Given the description of an element on the screen output the (x, y) to click on. 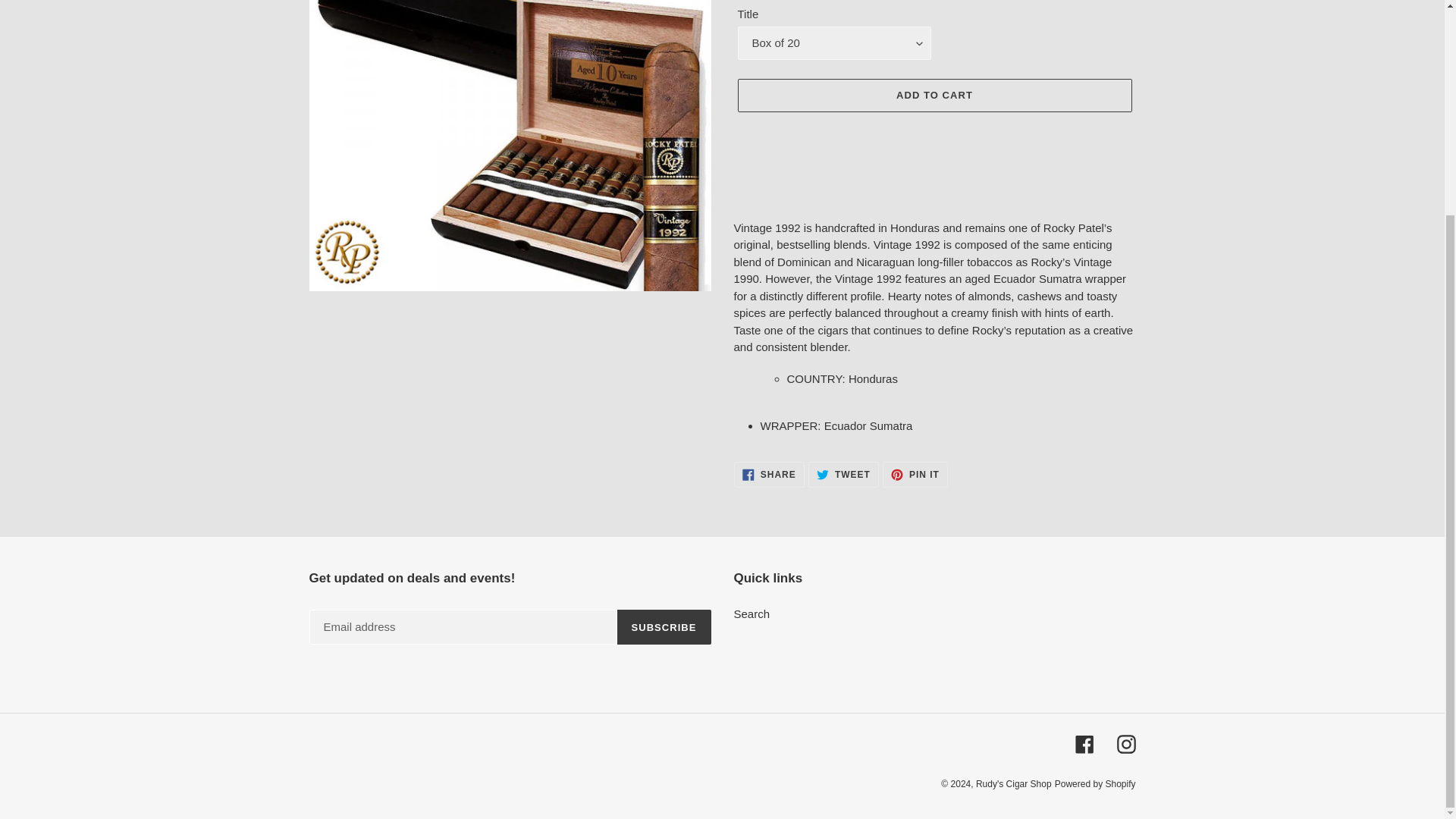
Search (769, 474)
Powered by Shopify (751, 613)
Facebook (1094, 783)
Instagram (1084, 743)
Rudy's Cigar Shop (1125, 743)
SUBSCRIBE (843, 474)
ADD TO CART (1013, 783)
